Given the description of an element on the screen output the (x, y) to click on. 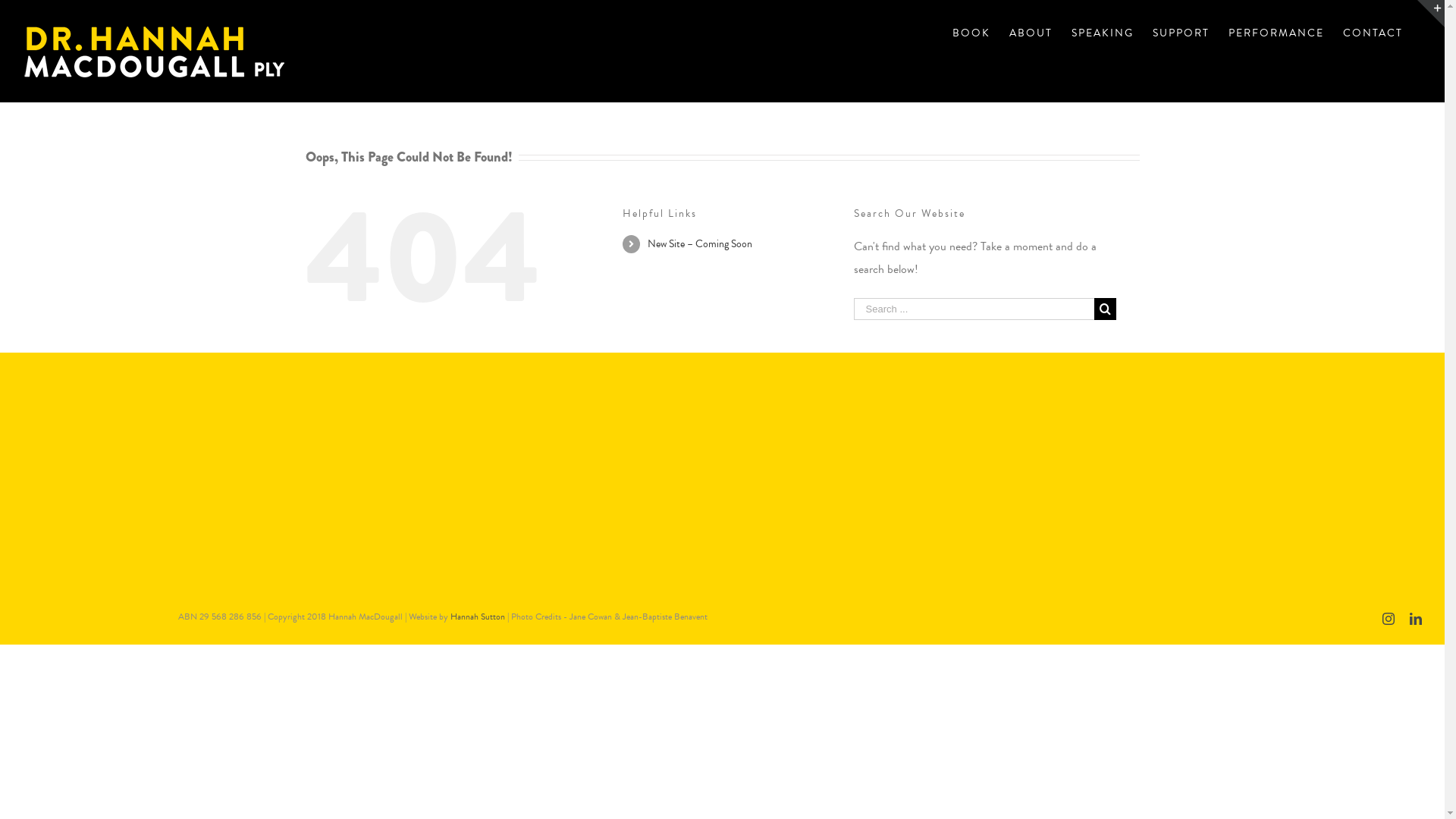
LinkedIn Element type: text (1415, 618)
PERFORMANCE Element type: text (1276, 31)
SUPPORT Element type: text (1180, 31)
Toggle Sliding Bar Area Element type: text (1430, 13)
CONTACT Element type: text (1372, 31)
SPEAKING Element type: text (1102, 31)
BOOK Element type: text (971, 31)
Hannah Sutton Element type: text (477, 616)
Instagram Element type: text (1388, 618)
ABOUT Element type: text (1030, 31)
